Given the description of an element on the screen output the (x, y) to click on. 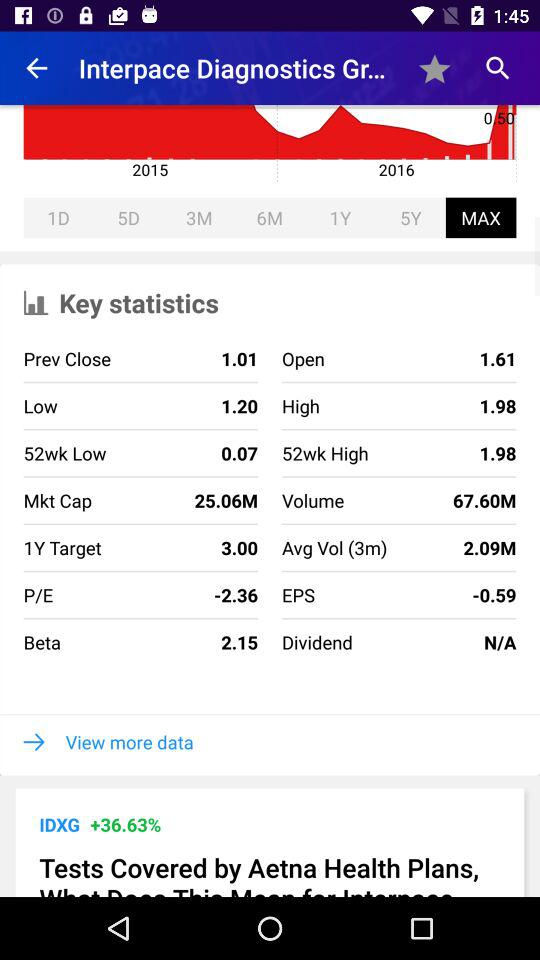
press the icon next to the 25.06m item (334, 547)
